Given the description of an element on the screen output the (x, y) to click on. 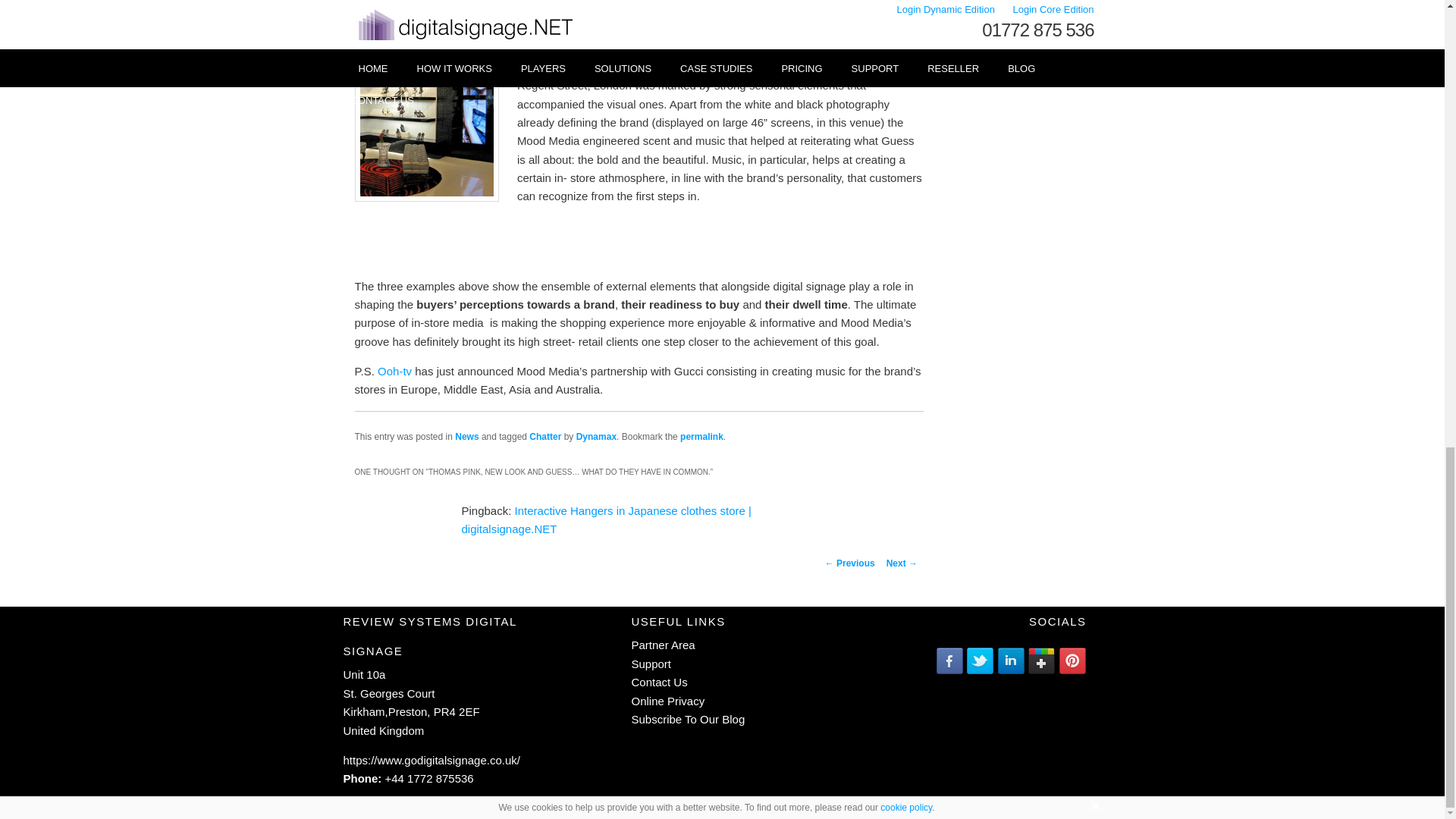
Cookie Policy (667, 700)
News (466, 436)
Chatter (544, 436)
Review World (430, 759)
Support (650, 663)
Ooh-tv (394, 370)
Partner Area (662, 644)
permalink (701, 436)
Contact us (658, 681)
Dynamax (595, 436)
